Given the description of an element on the screen output the (x, y) to click on. 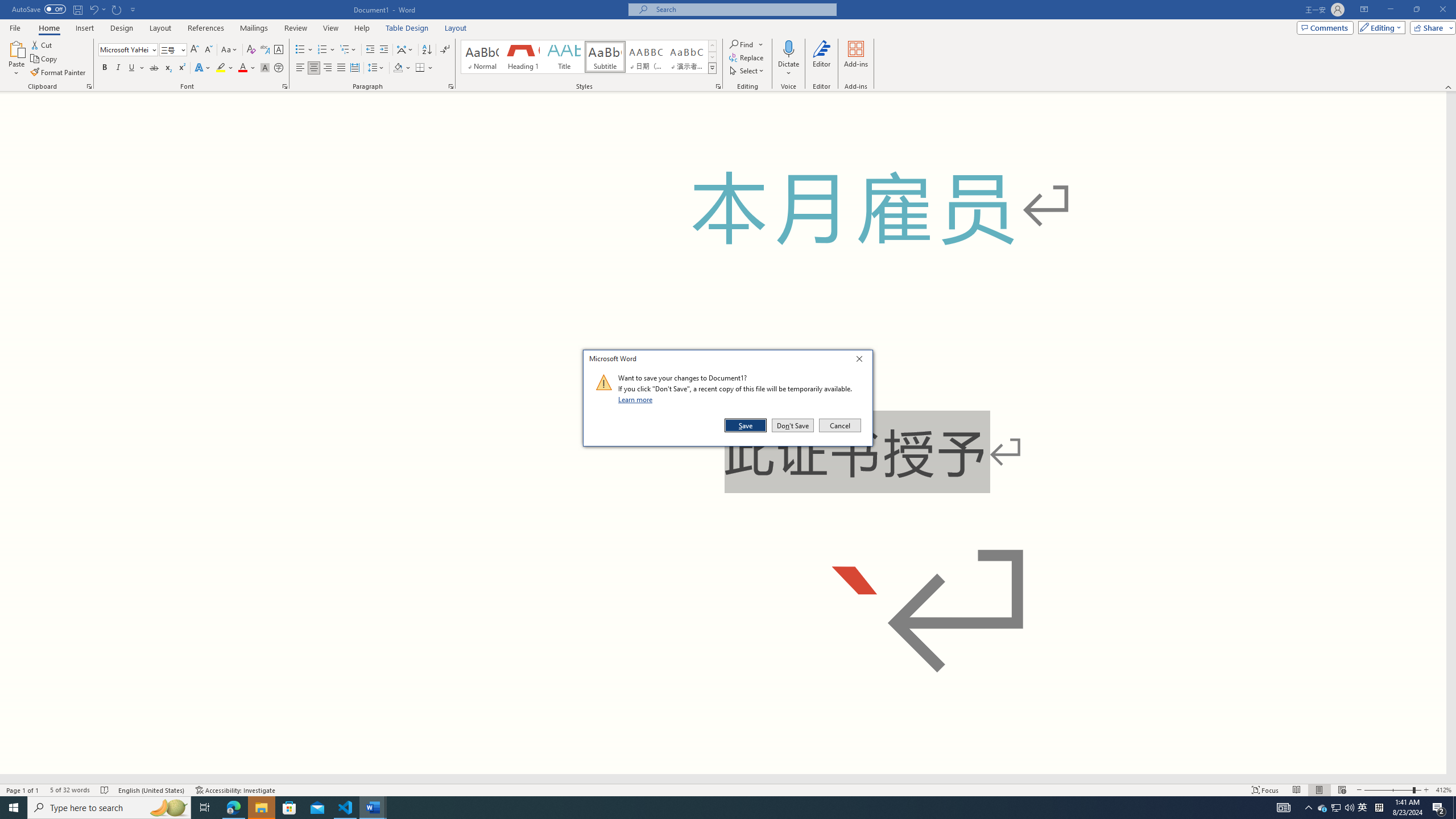
Undo Superscript (92, 9)
File Explorer - 1 running window (261, 807)
